Given the description of an element on the screen output the (x, y) to click on. 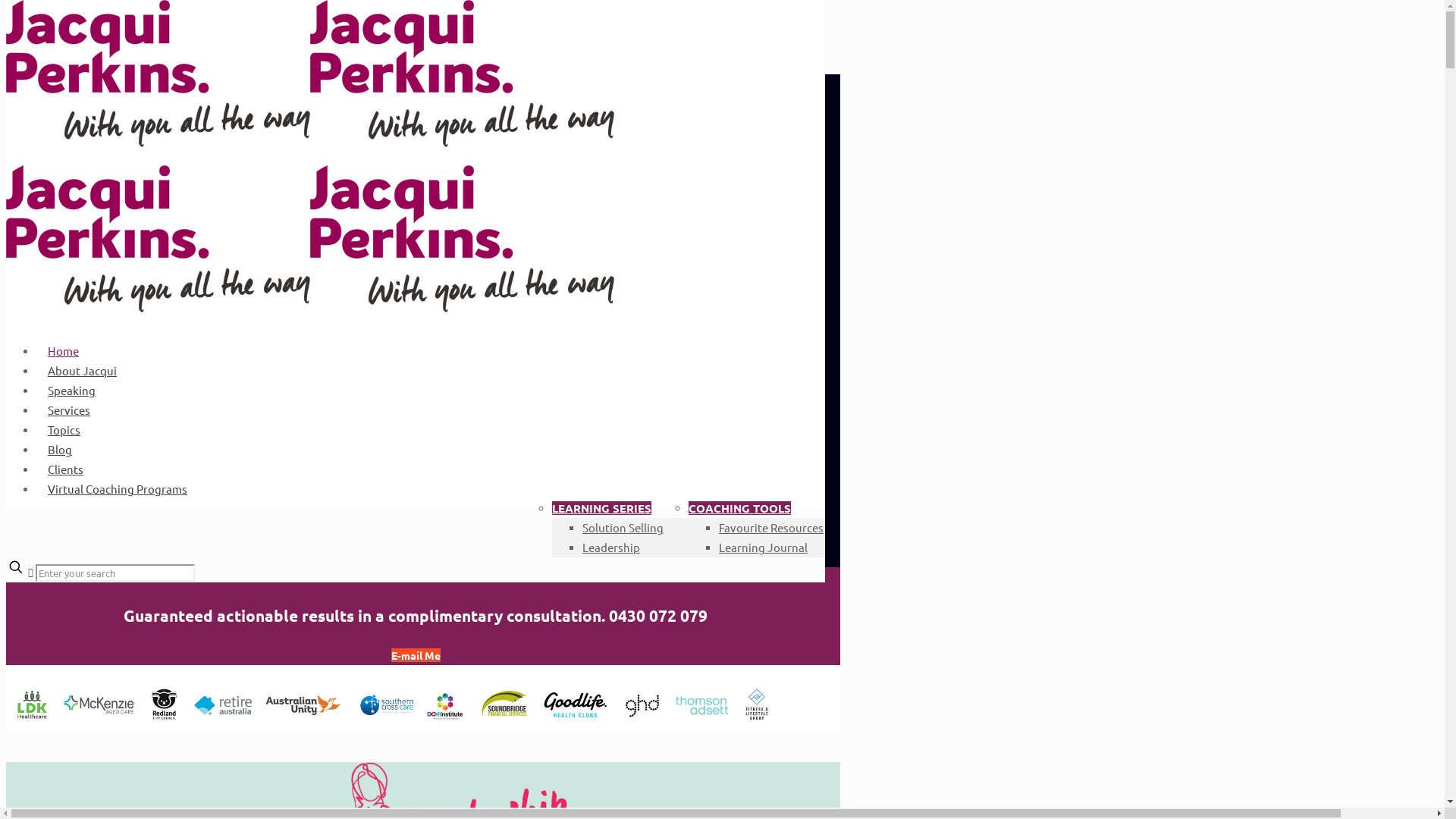
About Jacqui Element type: text (82, 370)
Jacqui Perkins Element type: hover (310, 225)
Learning Journal Element type: text (762, 547)
Speaking Element type: text (71, 389)
LEARNING SERIES Element type: text (601, 507)
Home Element type: text (63, 350)
Services Element type: text (68, 409)
E-mail Me Element type: text (415, 655)
Blog Element type: text (59, 448)
Topics Element type: text (63, 429)
Clients Element type: text (65, 468)
Solution Selling Element type: text (622, 527)
COACHING TOOLS Element type: text (739, 507)
Favourite Resources Element type: text (770, 527)
Virtual Coaching Programs Element type: text (117, 488)
Leadership Element type: text (611, 547)
